Given the description of an element on the screen output the (x, y) to click on. 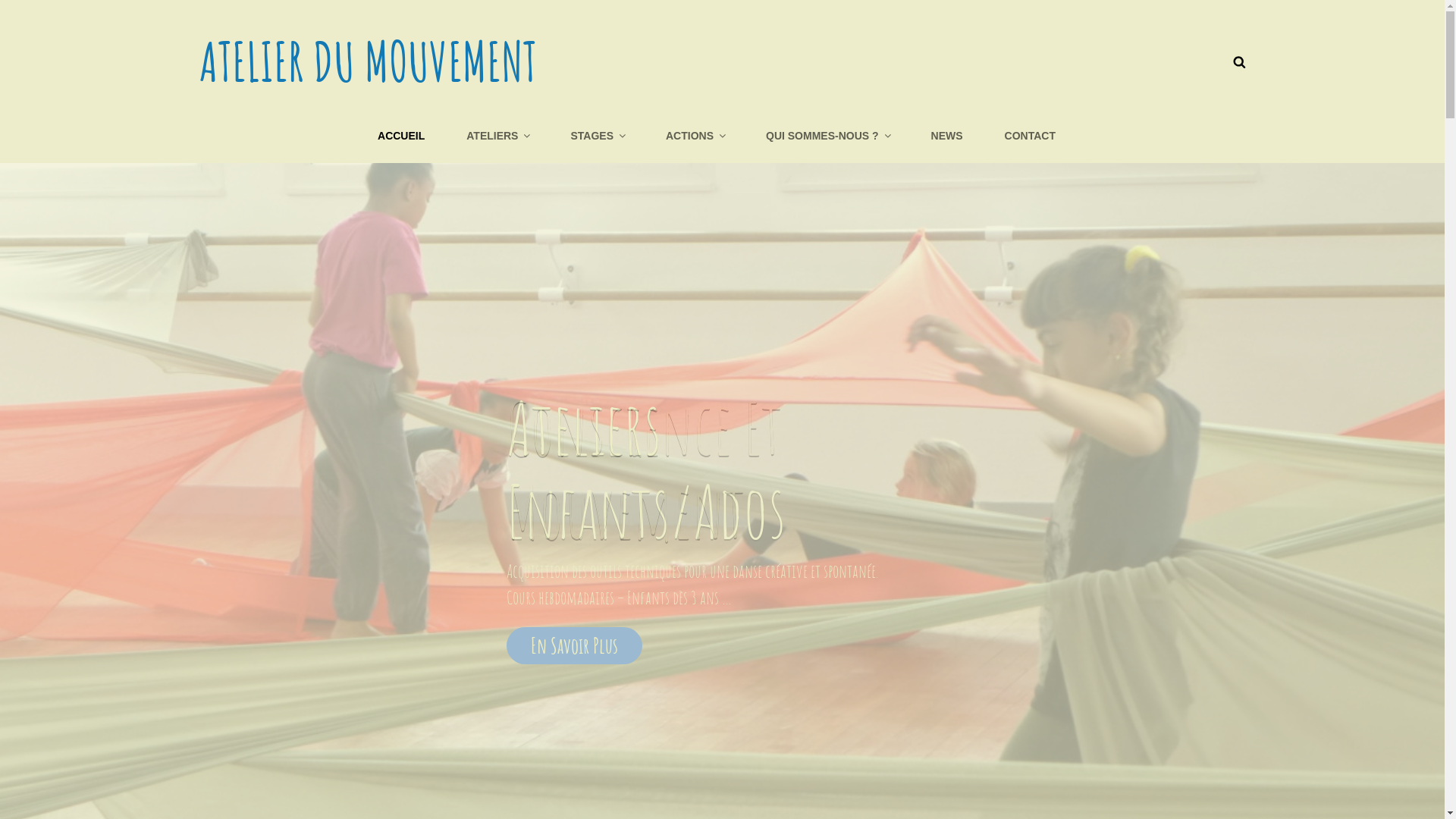
En Savoir Plus
Ateliers Enfants/Ados Element type: text (722, 645)
STAGES Element type: text (597, 135)
Ateliers Enfants/Ados Element type: text (645, 468)
ACTIONS Element type: text (694, 135)
CONTACT Element type: text (1029, 135)
QUI SOMMES-NOUS ? Element type: text (827, 135)
ACCUEIL Element type: text (400, 135)
ATELIERS Element type: text (497, 135)
ATELIER DU MOUVEMENT Element type: text (367, 61)
NEWS Element type: text (947, 135)
